Given the description of an element on the screen output the (x, y) to click on. 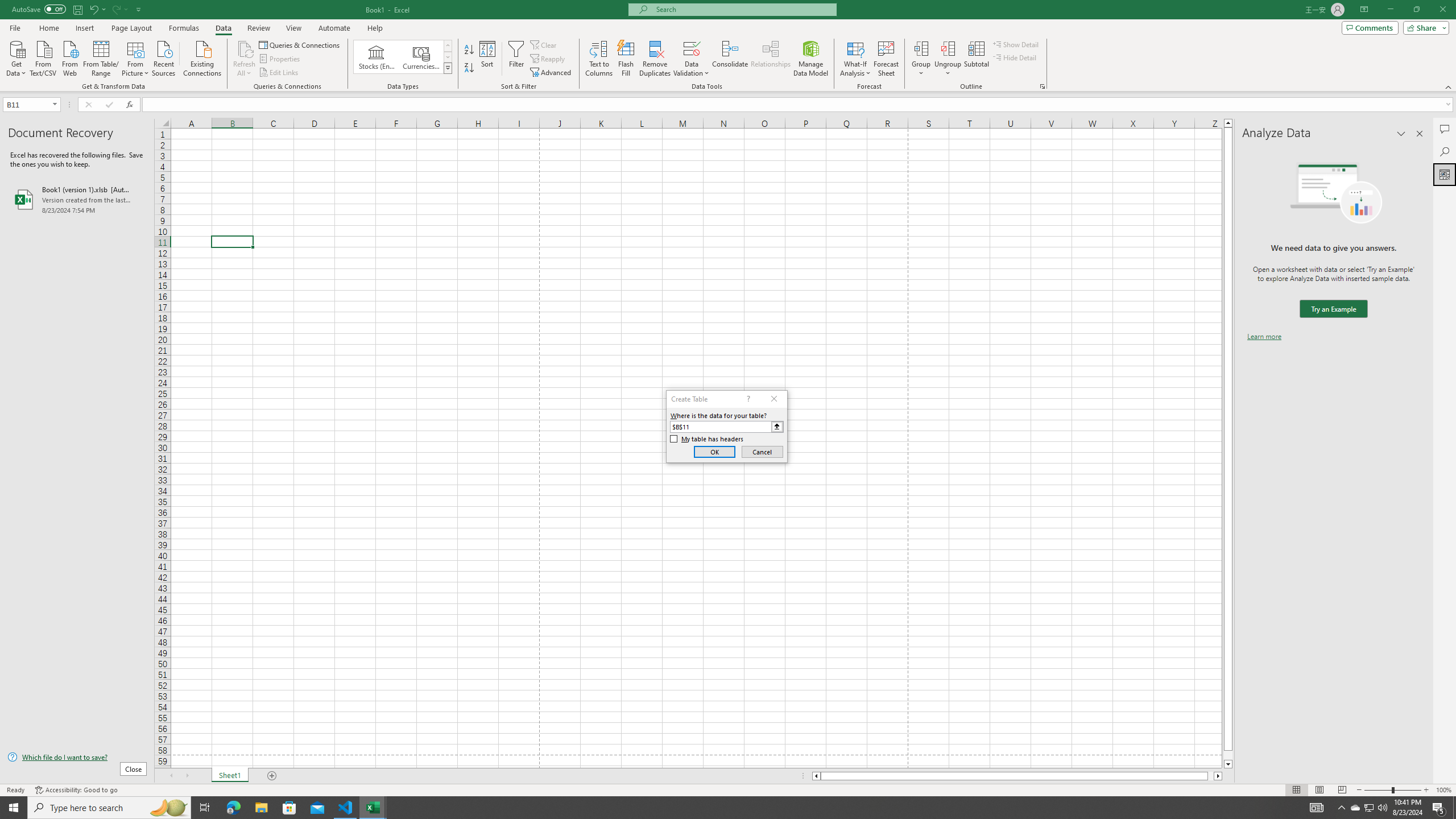
We need data to give you answers. Try an Example (1333, 308)
